Given the description of an element on the screen output the (x, y) to click on. 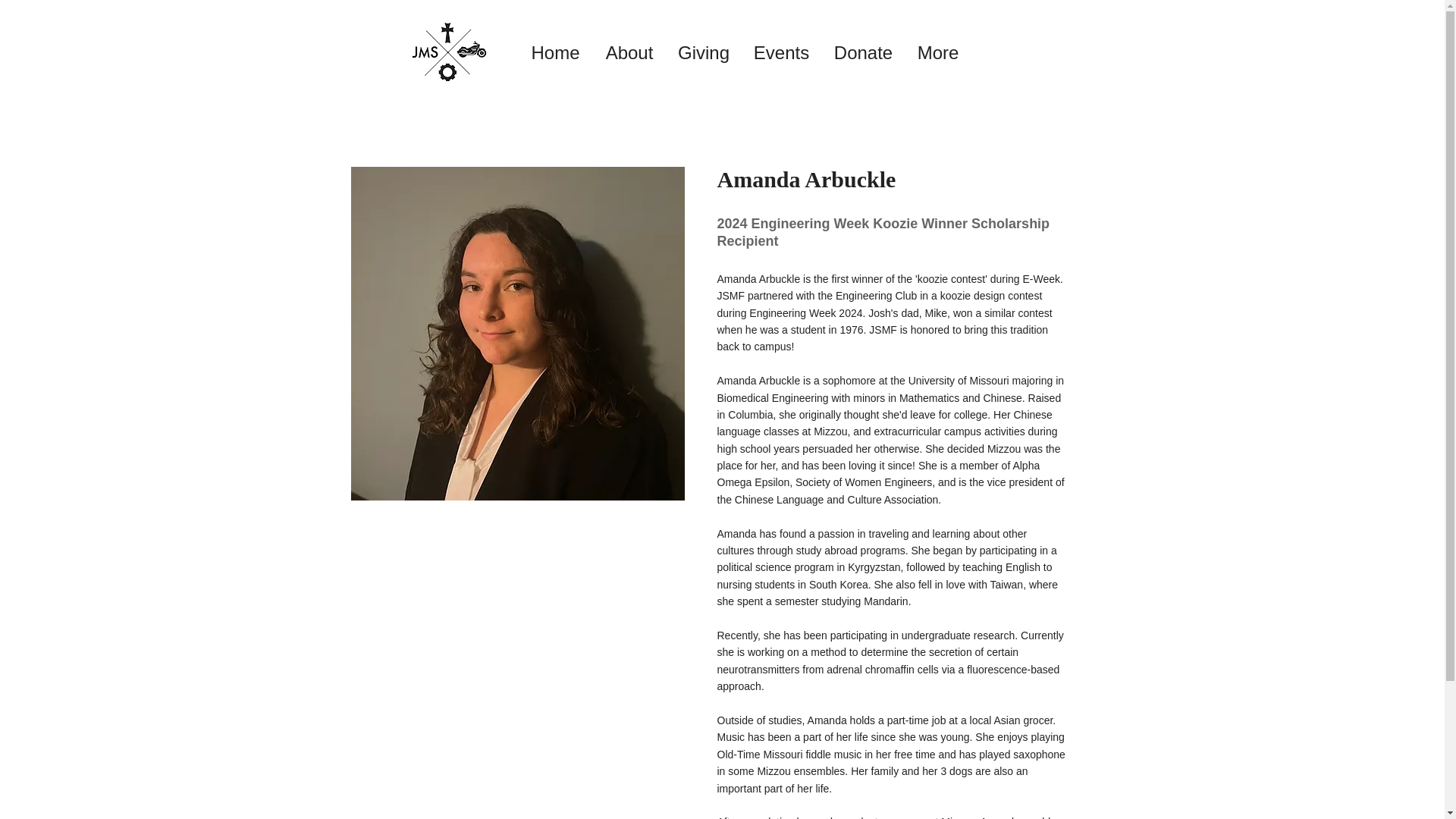
Home (555, 52)
About (629, 52)
Giving (703, 52)
Events (781, 52)
Donate (863, 52)
